Given the description of an element on the screen output the (x, y) to click on. 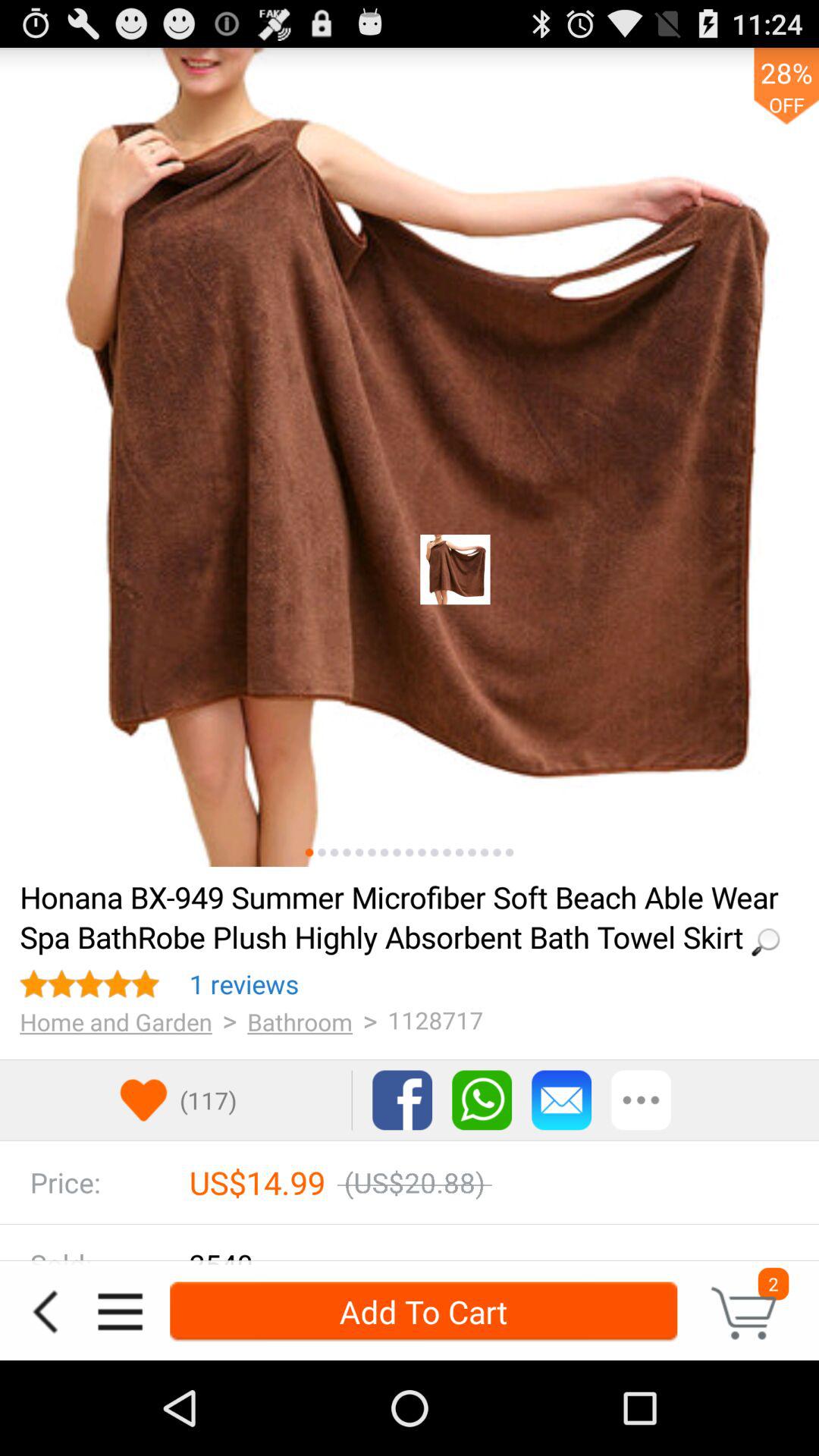
toggle picture options (346, 852)
